Given the description of an element on the screen output the (x, y) to click on. 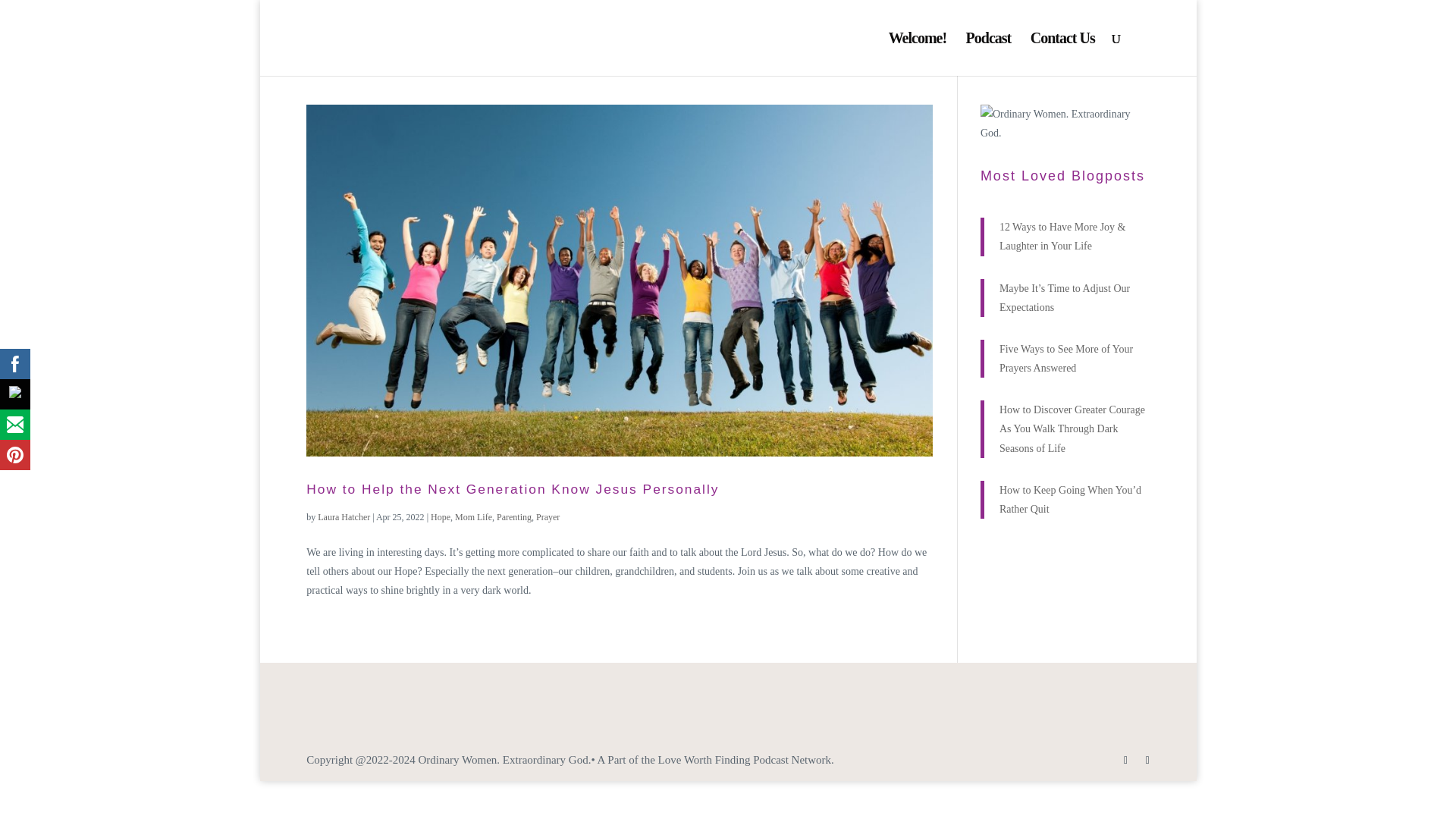
Mom Life (473, 516)
Prayer (547, 516)
Hope (439, 516)
Parenting (513, 516)
Welcome! (917, 54)
Contact Us (1062, 54)
Five Ways to See More of Your Prayers Answered (1065, 358)
Laura Hatcher (343, 516)
How to Help the Next Generation Know Jesus Personally (512, 488)
